Given the description of an element on the screen output the (x, y) to click on. 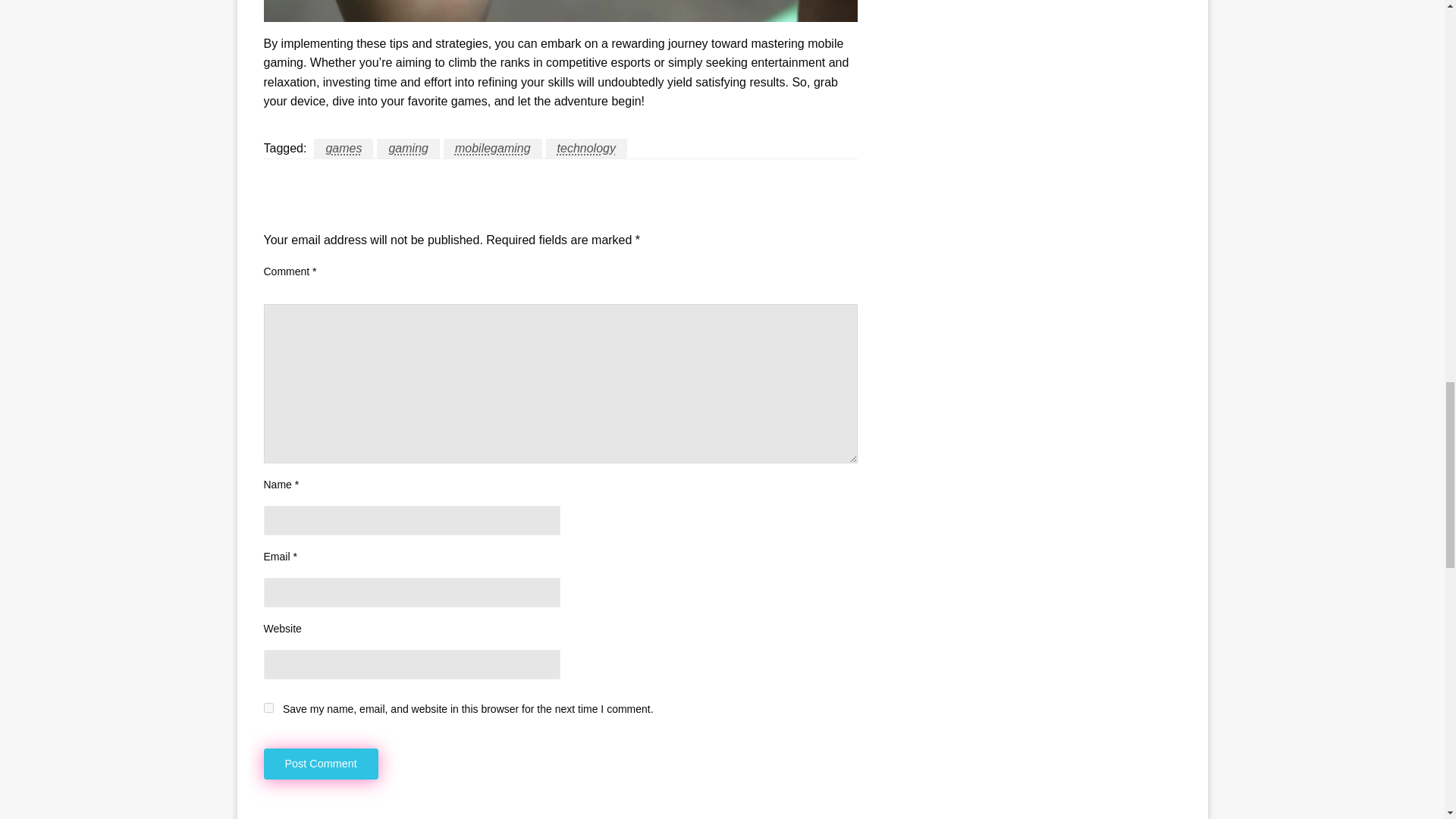
Post Comment (320, 763)
mobilegaming (492, 148)
yes (268, 707)
Post Comment (320, 763)
gaming (408, 148)
games (343, 148)
technology (586, 148)
